Given the description of an element on the screen output the (x, y) to click on. 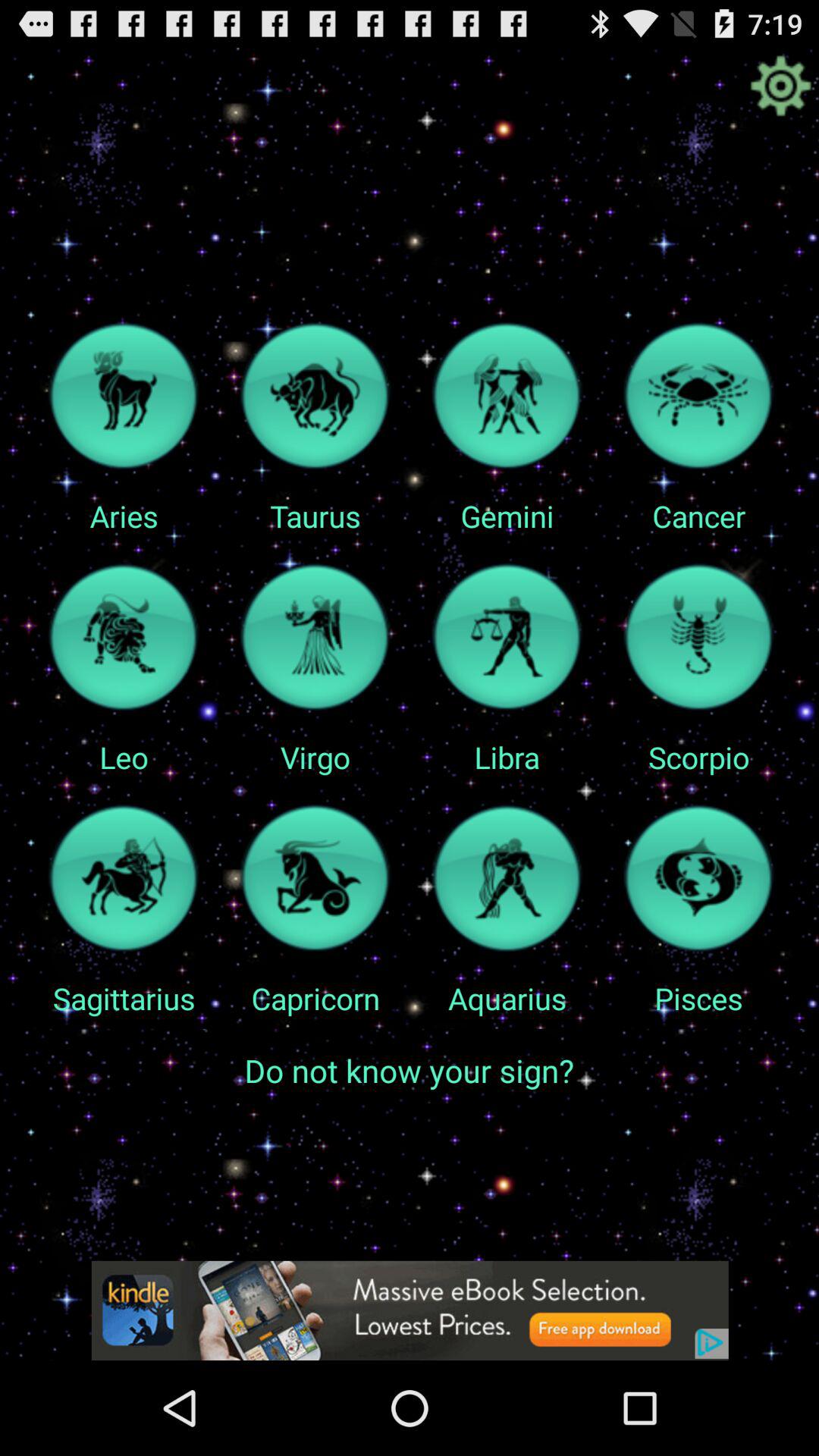
advertisement (409, 1310)
